Given the description of an element on the screen output the (x, y) to click on. 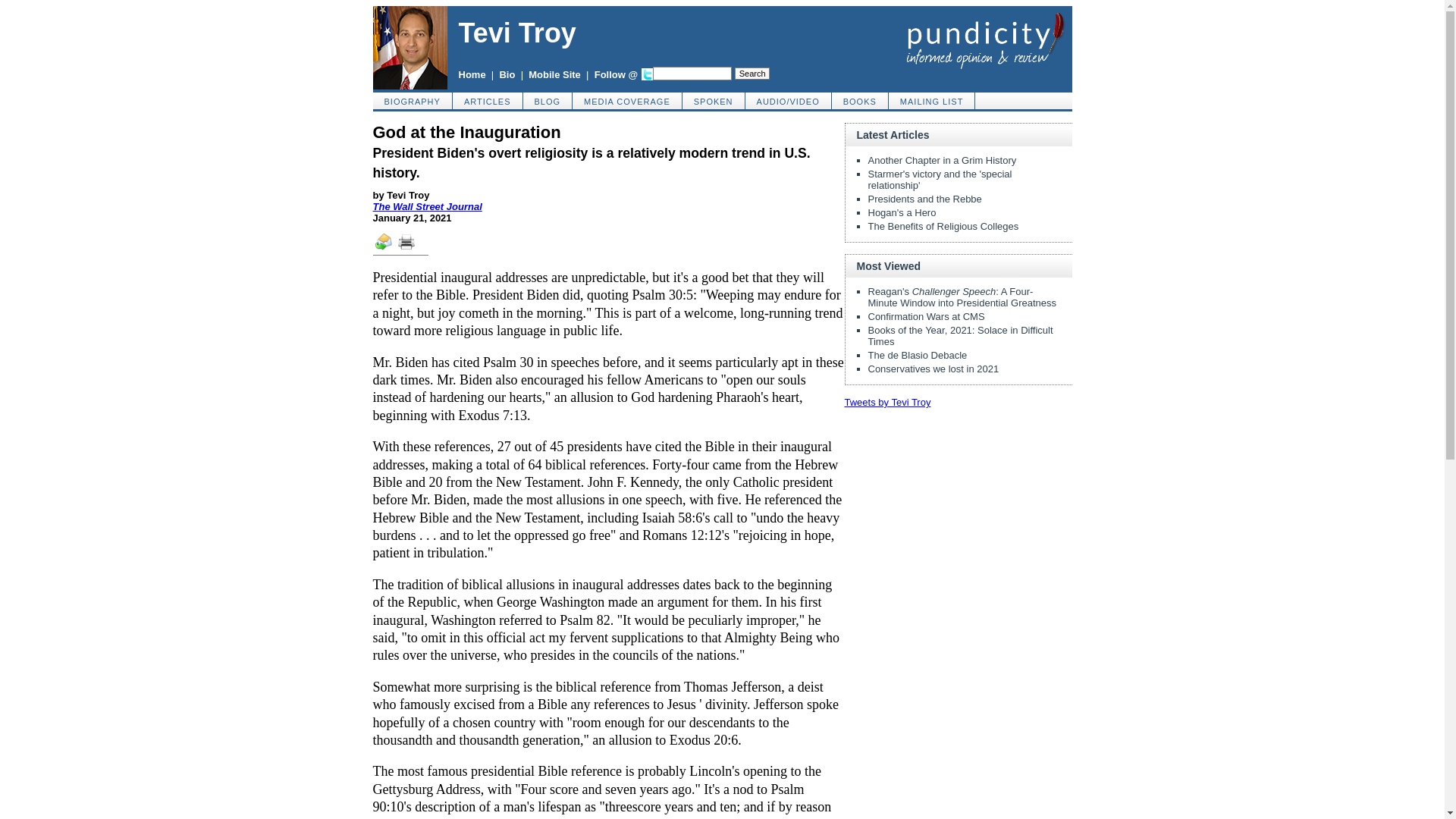
Presidents and the Rebbe (924, 198)
Starmer's victory and the 'special relationship' (939, 179)
Books of the Year, 2021: Solace in Difficult Times (959, 335)
Another Chapter in a Grim History (941, 160)
Mobile Site (554, 74)
Search (752, 73)
MAILING LIST (931, 100)
Hogan's a Hero (901, 212)
Tevi Troy (516, 32)
SPOKEN (713, 100)
Tweets by Tevi Troy (887, 401)
Confirmation Wars at CMS (925, 316)
The Wall Street Journal (426, 206)
ARTICLES (487, 100)
